Given the description of an element on the screen output the (x, y) to click on. 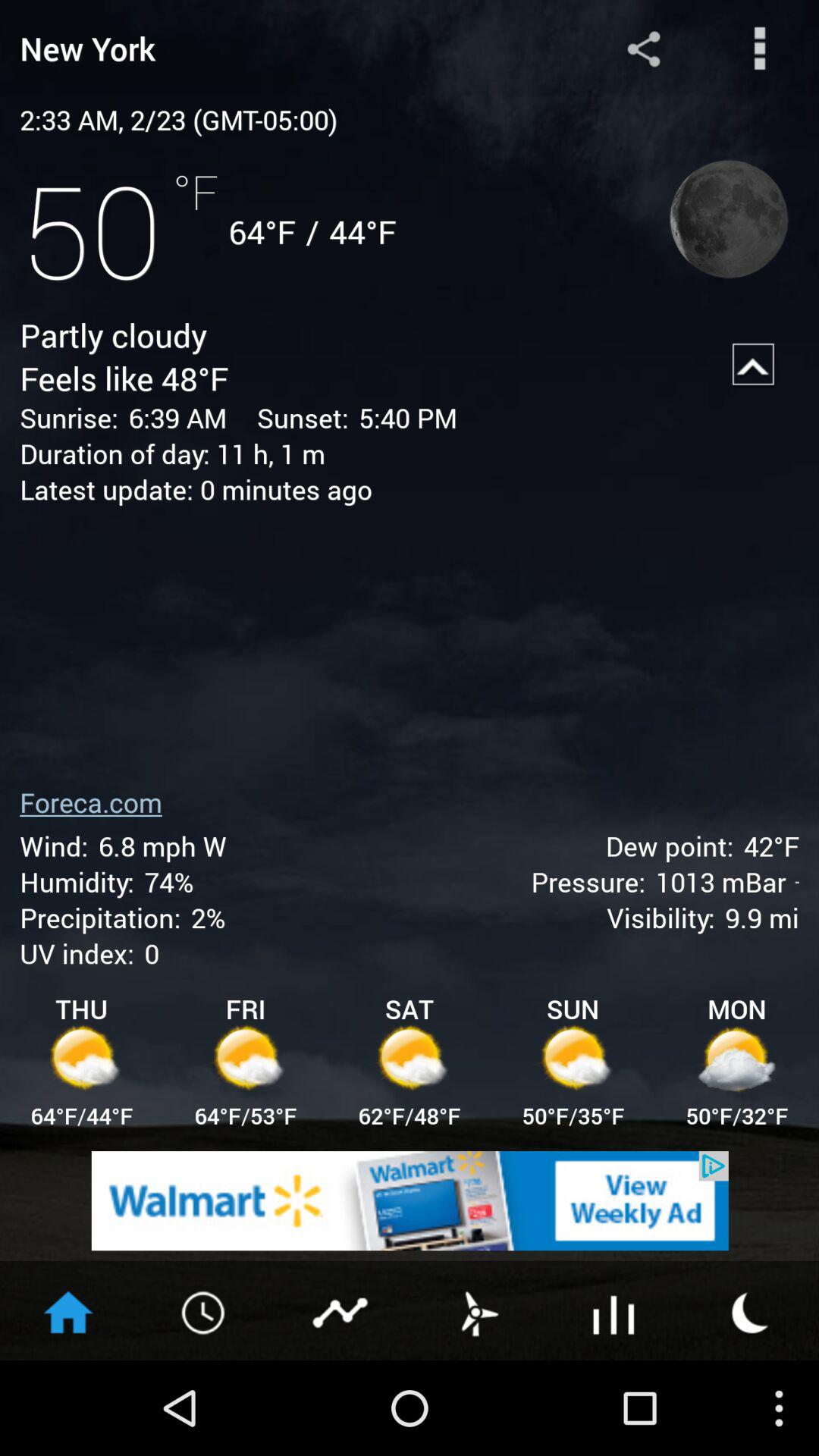
go up (753, 364)
